Given the description of an element on the screen output the (x, y) to click on. 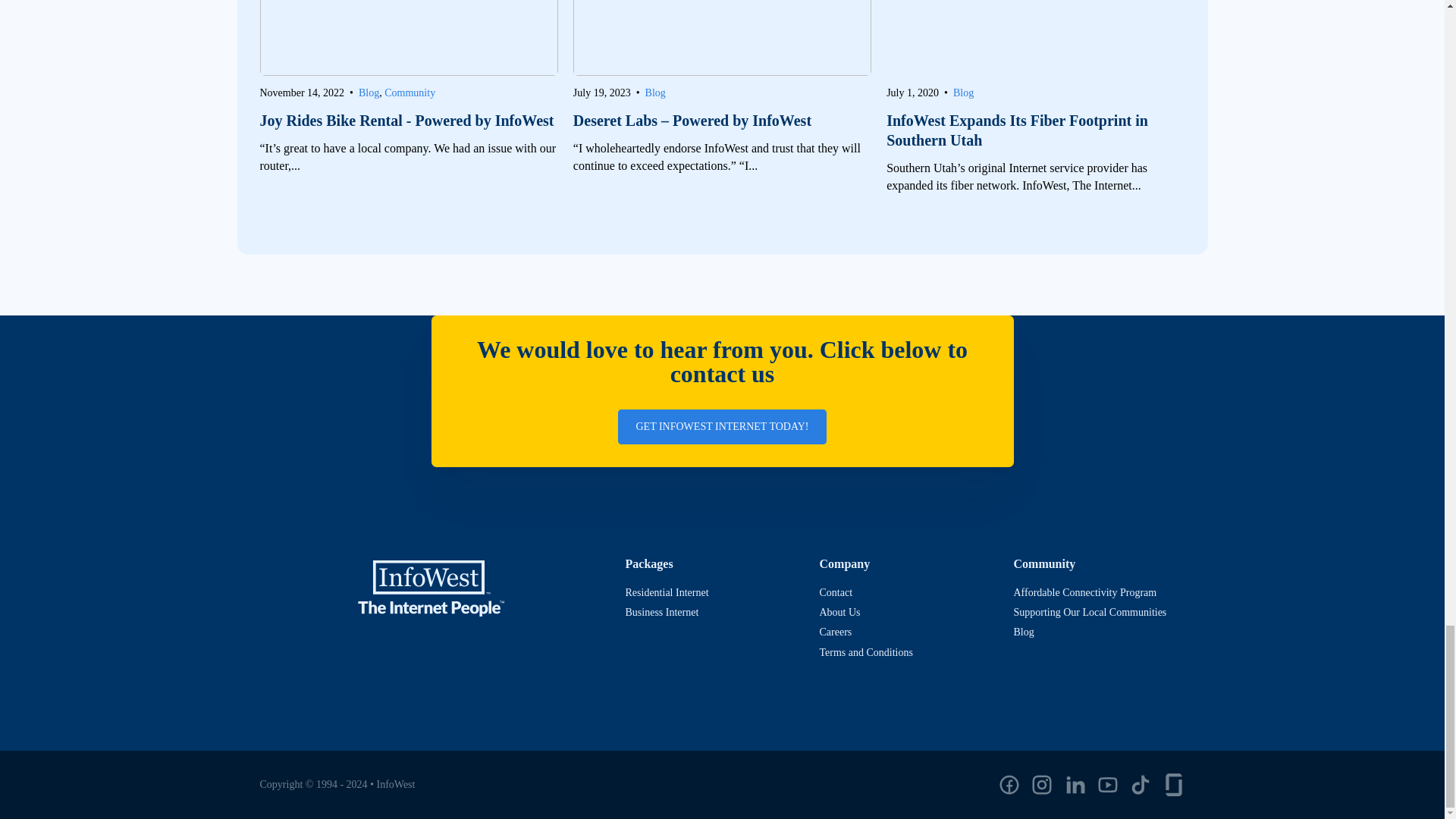
Community (409, 92)
Glassdoor icon (1173, 784)
instagram icon (1041, 784)
Blog (368, 92)
Tiktok icon (1140, 784)
InfoWest - The Internet People (430, 588)
facebook icon (1008, 784)
LinkedIn icon (1075, 784)
Blog (655, 92)
YouTube icon (1107, 784)
Joy Rides Bike Rental - Powered by InfoWest (408, 120)
